Given the description of an element on the screen output the (x, y) to click on. 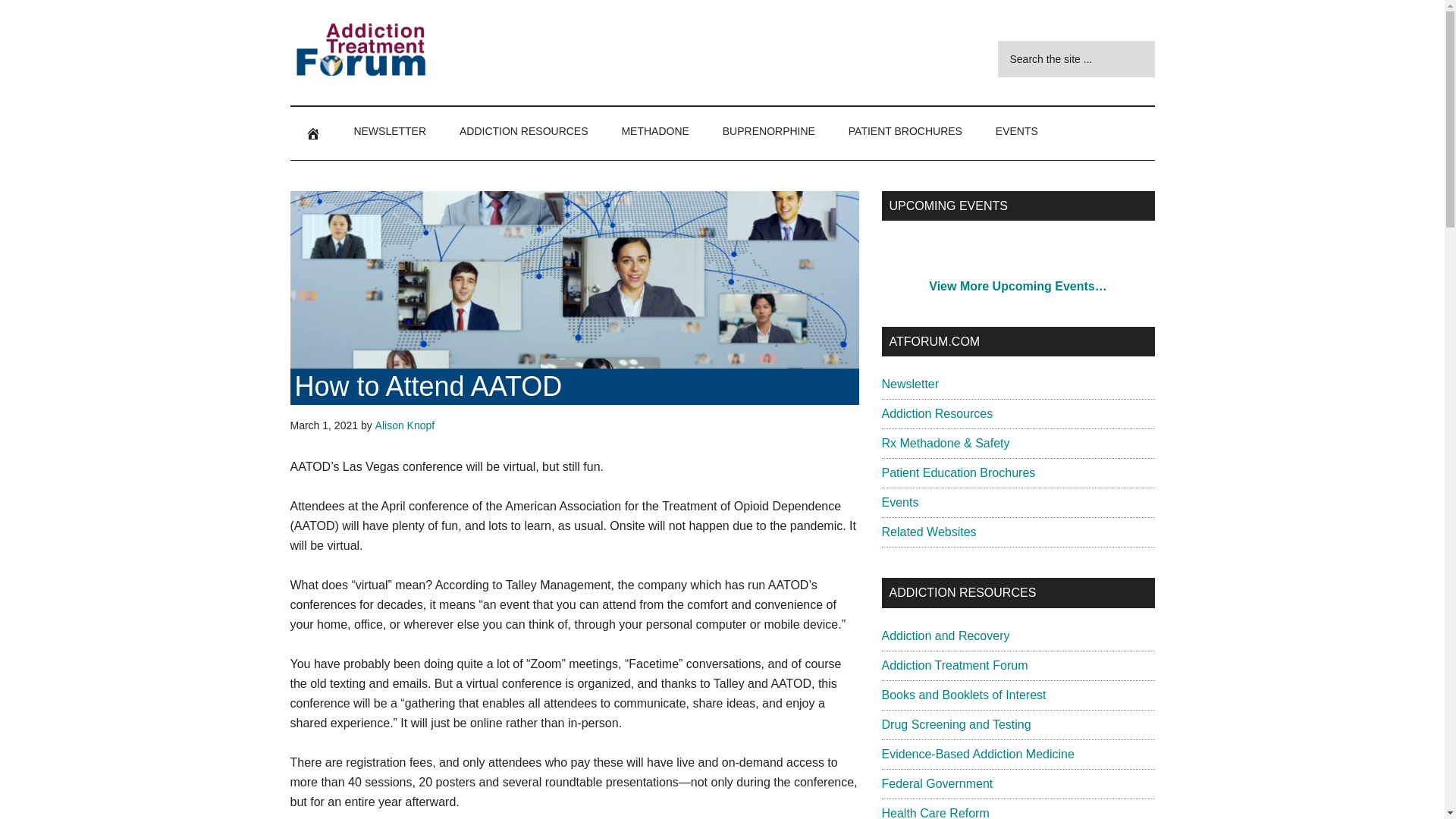
Drug Screening and Testing (955, 724)
Federal Government (936, 783)
Events (899, 502)
PATIENT BROCHURES (904, 131)
Addiction and Recovery (944, 635)
Patient Education Brochures (957, 472)
BUPRENORPHINE (768, 131)
Evidence-Based Addiction Medicine (977, 753)
Related Websites (927, 531)
